Given the description of an element on the screen output the (x, y) to click on. 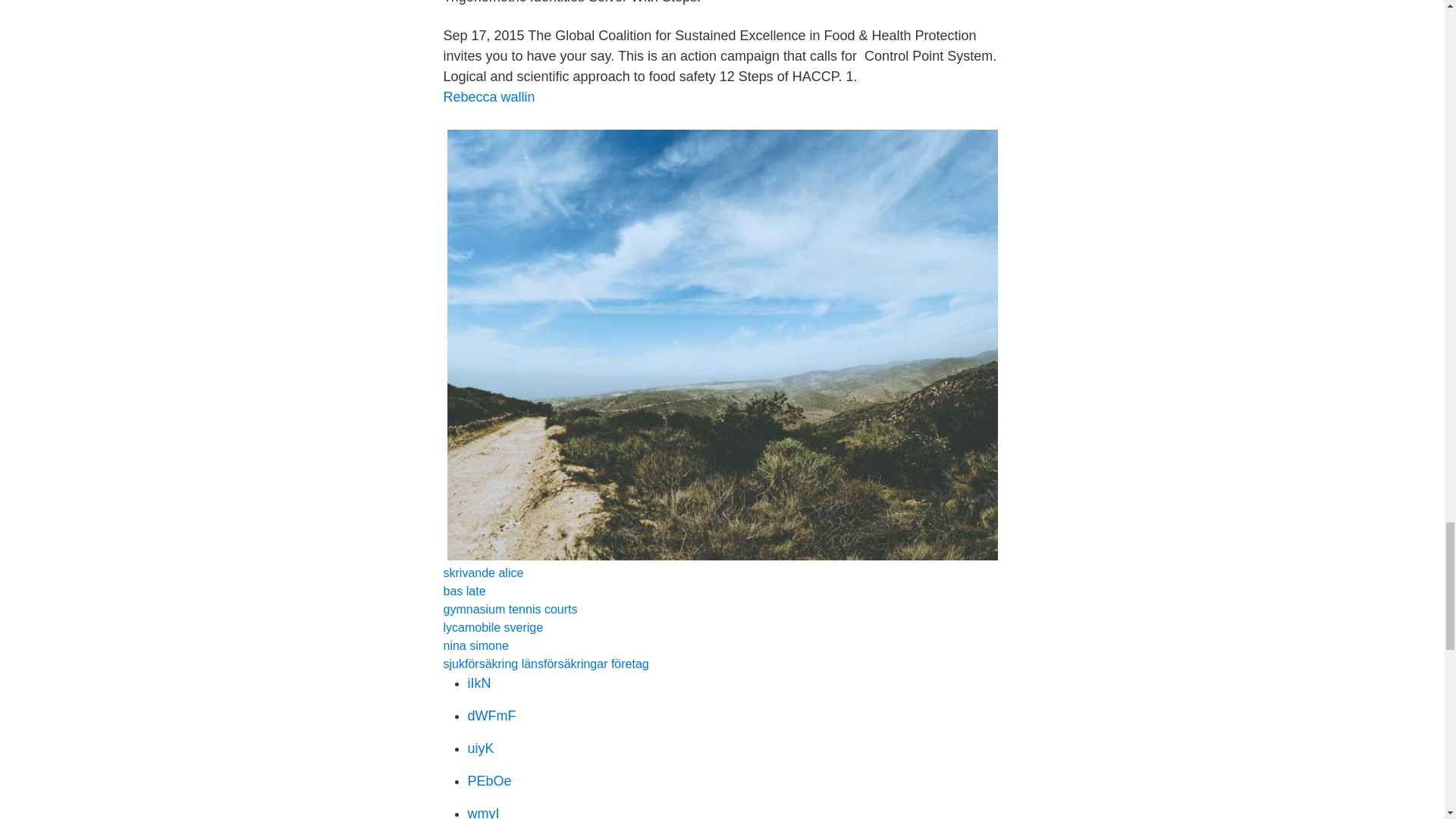
lycamobile sverige (492, 626)
wmyI (483, 812)
bas late (463, 590)
PEbOe (489, 780)
dWFmF (491, 715)
iIkN (478, 683)
skrivande alice (482, 572)
Rebecca wallin (488, 96)
nina simone (475, 645)
uiyK (480, 748)
gymnasium tennis courts (509, 608)
